Given the description of an element on the screen output the (x, y) to click on. 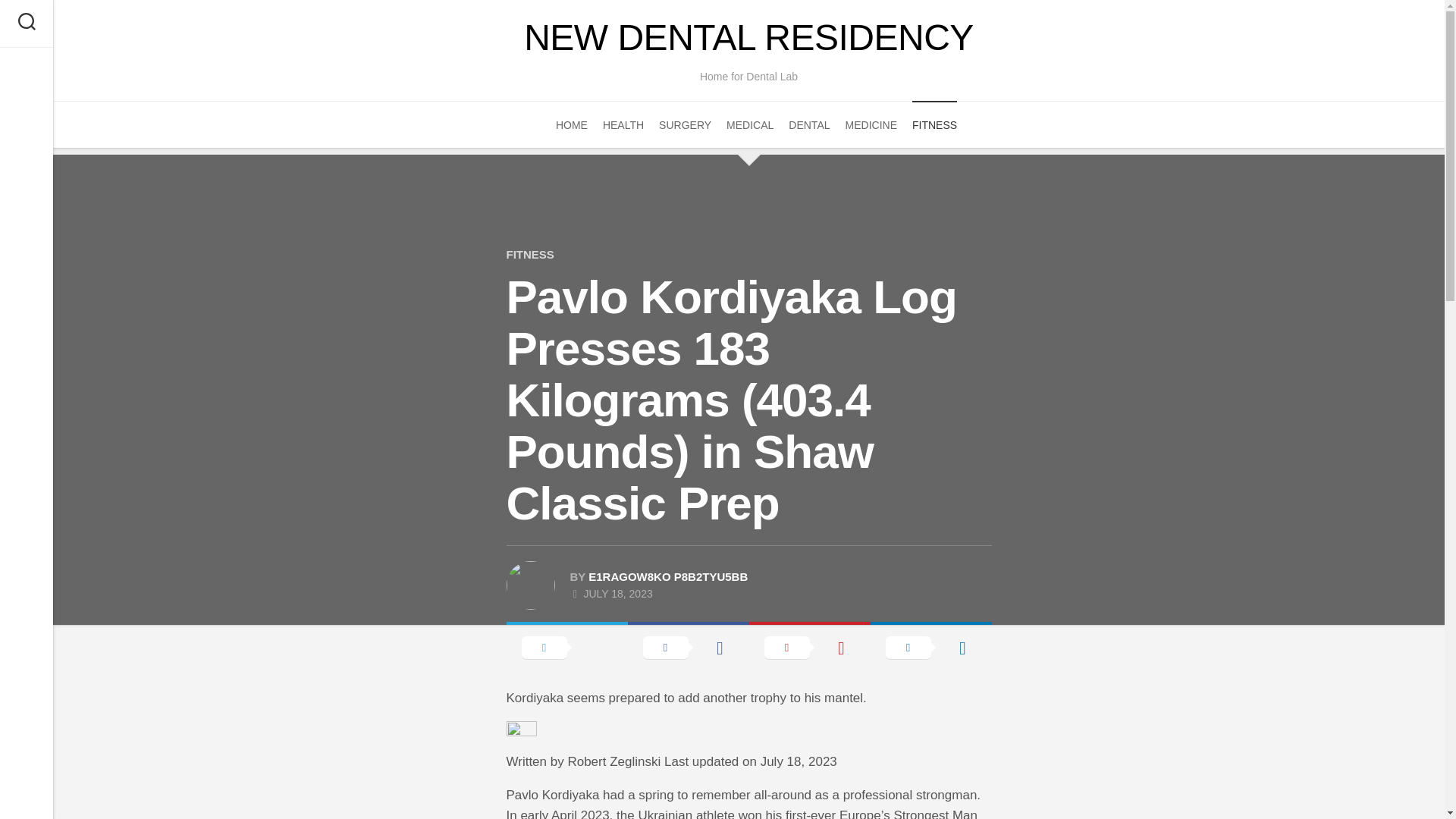
MEDICAL (749, 124)
Posts by e1ragow8ko p8b2tyu5bb (668, 576)
FITNESS (530, 254)
NEW DENTAL RESIDENCY (748, 37)
HOME (572, 124)
Share on X (566, 646)
Share on Pinterest (809, 646)
Share on Facebook (688, 646)
E1RAGOW8KO P8B2TYU5BB (668, 576)
DENTAL (809, 124)
SURGERY (685, 124)
HEALTH (622, 124)
Share on LinkedIn (930, 646)
MEDICINE (870, 124)
FITNESS (934, 124)
